Given the description of an element on the screen output the (x, y) to click on. 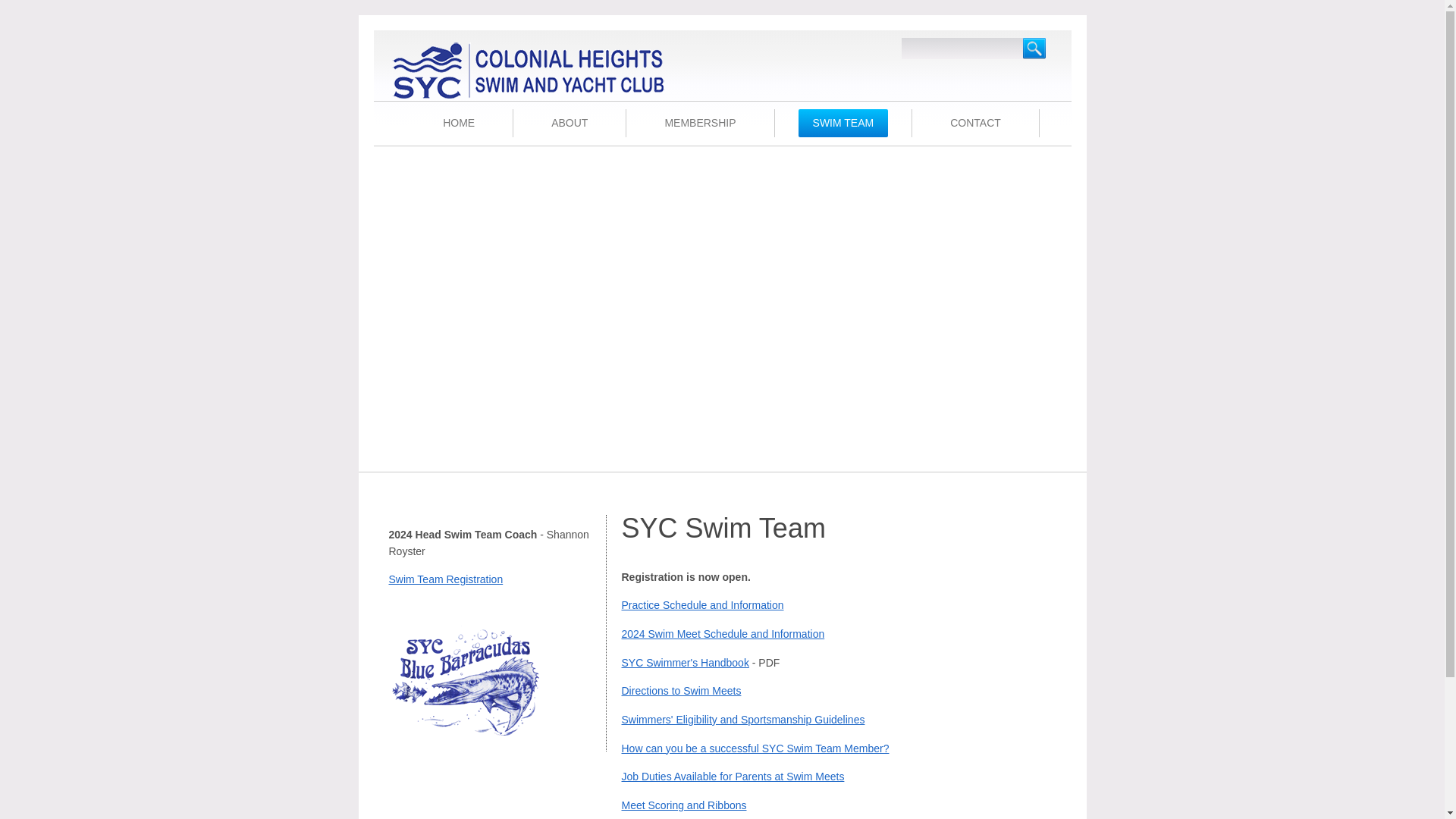
Directions to Swim Meets (681, 690)
Search (1033, 47)
CONTACT (975, 122)
Swim Team Registration (445, 579)
How can you be a successful SYC Swim Team Member? (755, 748)
Meet Scoring and Ribbons (683, 805)
SYC Swimmer's Handbook (685, 662)
Practice Schedule and Information (702, 604)
HOME (458, 122)
ABOUT (569, 122)
